Given the description of an element on the screen output the (x, y) to click on. 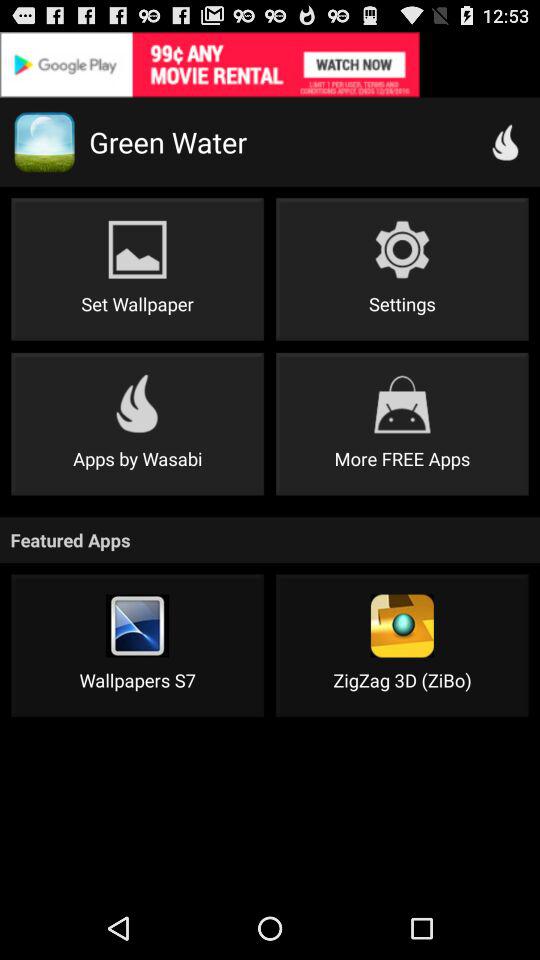
click to view advertisements icon (270, 64)
